Given the description of an element on the screen output the (x, y) to click on. 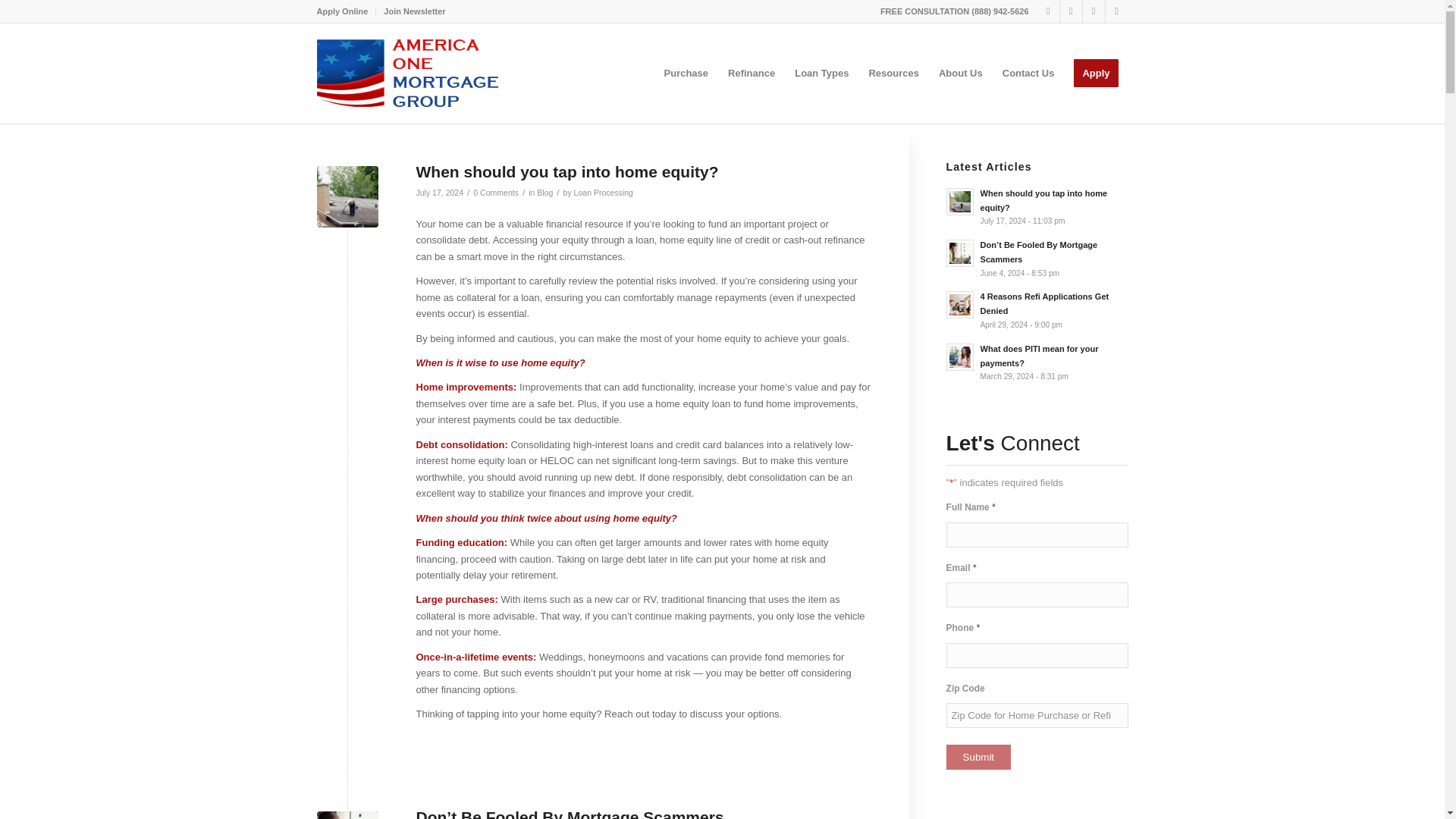
When should you tap into home equity? (565, 171)
Join Newsletter  (414, 11)
Screenshot 2024-07-17 160457 (347, 196)
Blog (545, 192)
Screenshot 2024-06-04 135156 (347, 815)
Yelp (1070, 11)
Apply Online (342, 11)
Loan Processing (603, 192)
Facebook (1094, 11)
Submit (978, 756)
